Given the description of an element on the screen output the (x, y) to click on. 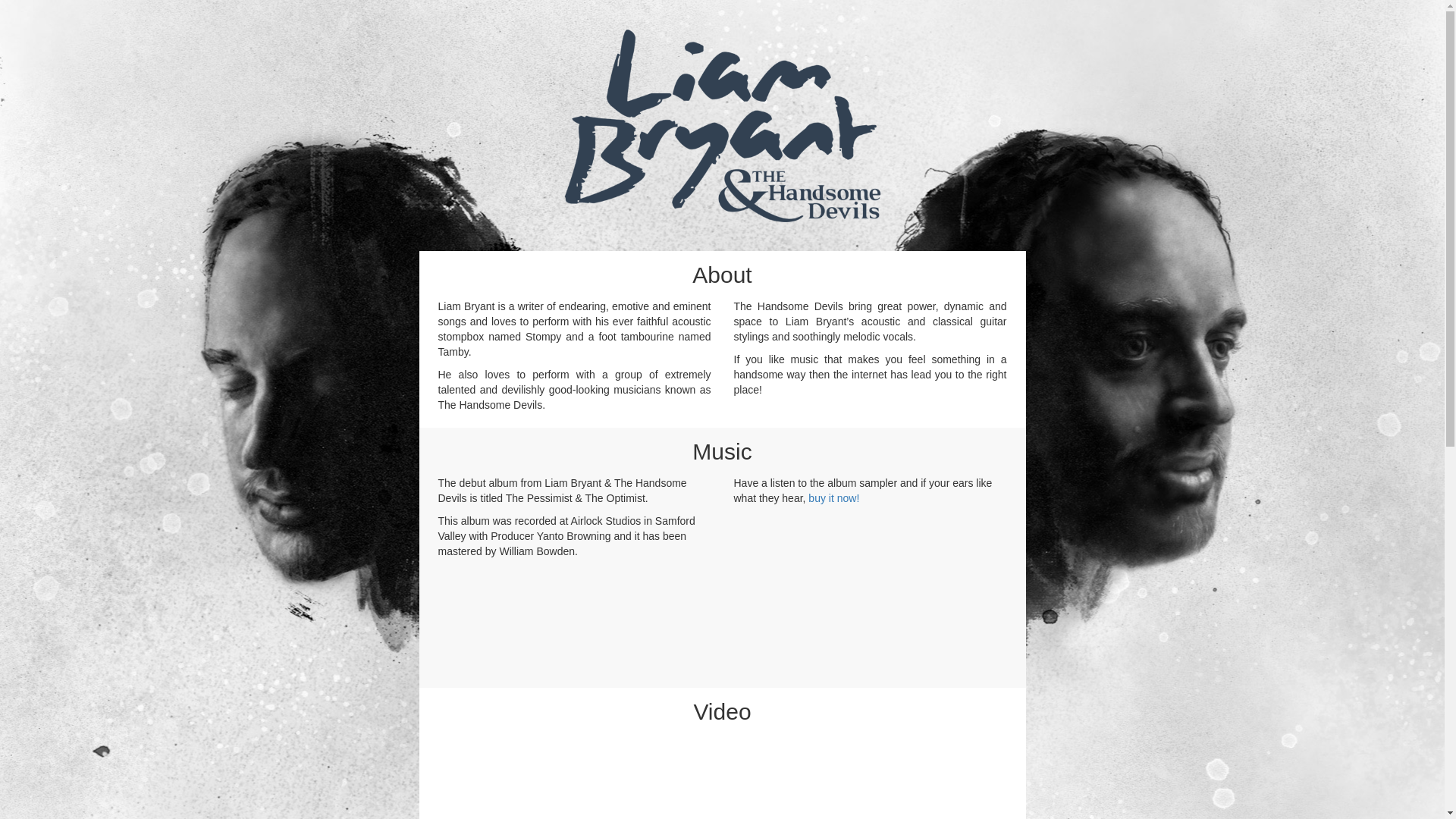
buy it now! Element type: text (833, 498)
